Given the description of an element on the screen output the (x, y) to click on. 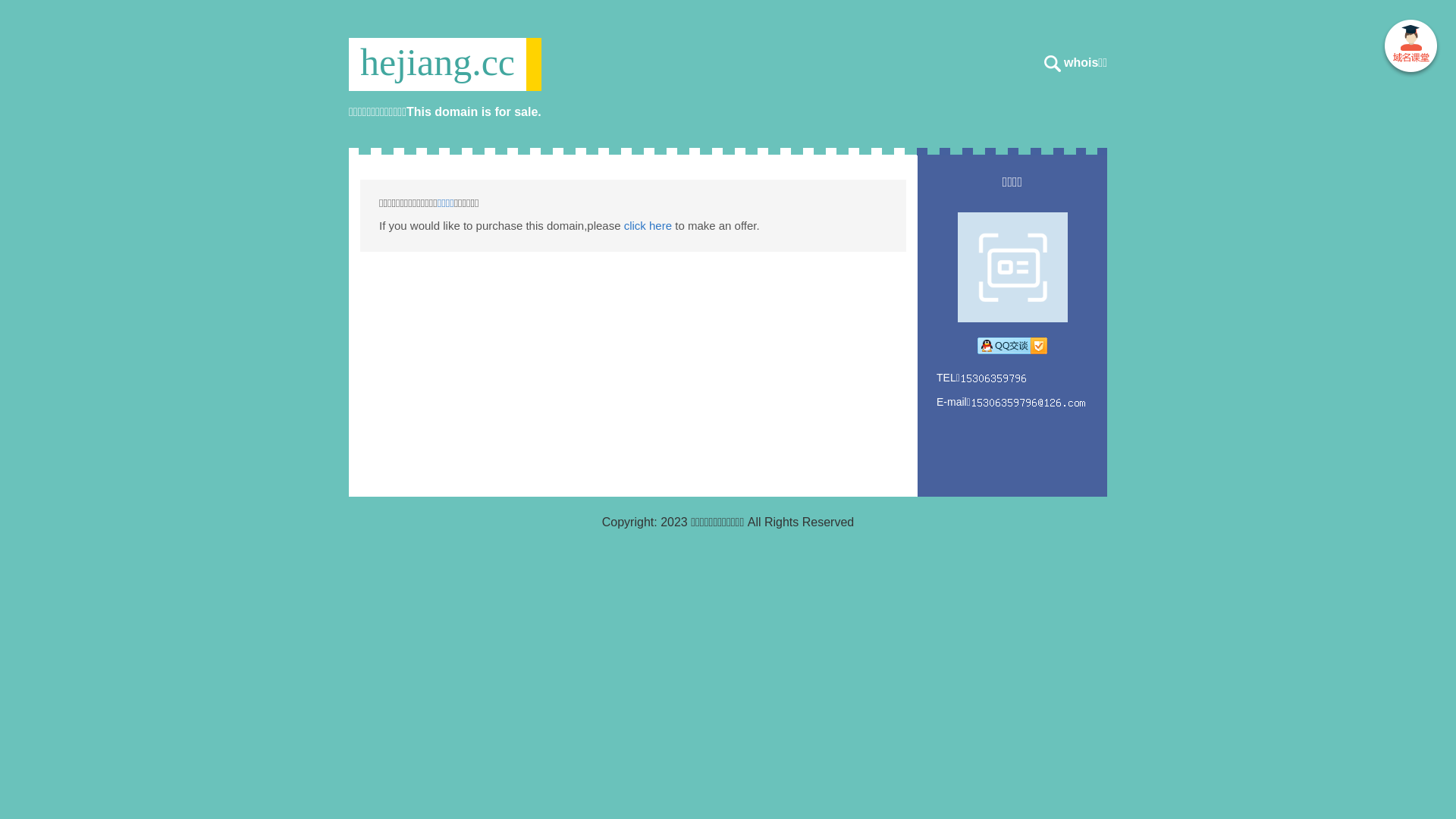
click here Element type: text (647, 225)
  Element type: text (1410, 48)
